Given the description of an element on the screen output the (x, y) to click on. 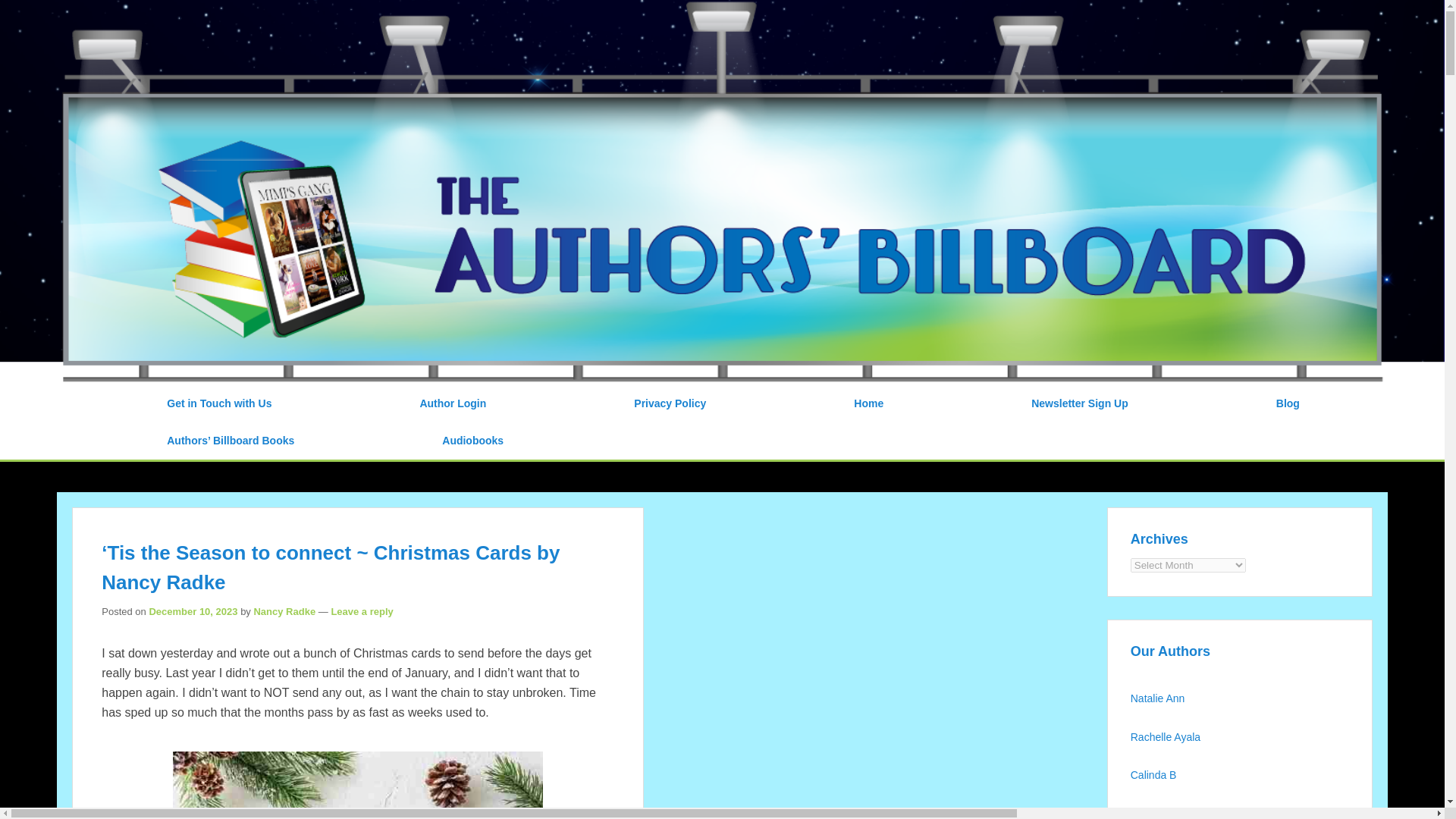
The Authors' Billboard (258, 19)
December 10, 2023 (192, 611)
Home (868, 403)
Get in Touch with Us (218, 403)
Audiobooks (472, 440)
Blog (1287, 403)
Author Login (452, 403)
View all posts by Nancy Radke (284, 611)
The Authors' Billboard (258, 19)
5:15 am (192, 611)
Newsletter Sign Up (1079, 403)
Leave a reply (361, 611)
Nancy Radke (284, 611)
Privacy Policy (669, 403)
